Given the description of an element on the screen output the (x, y) to click on. 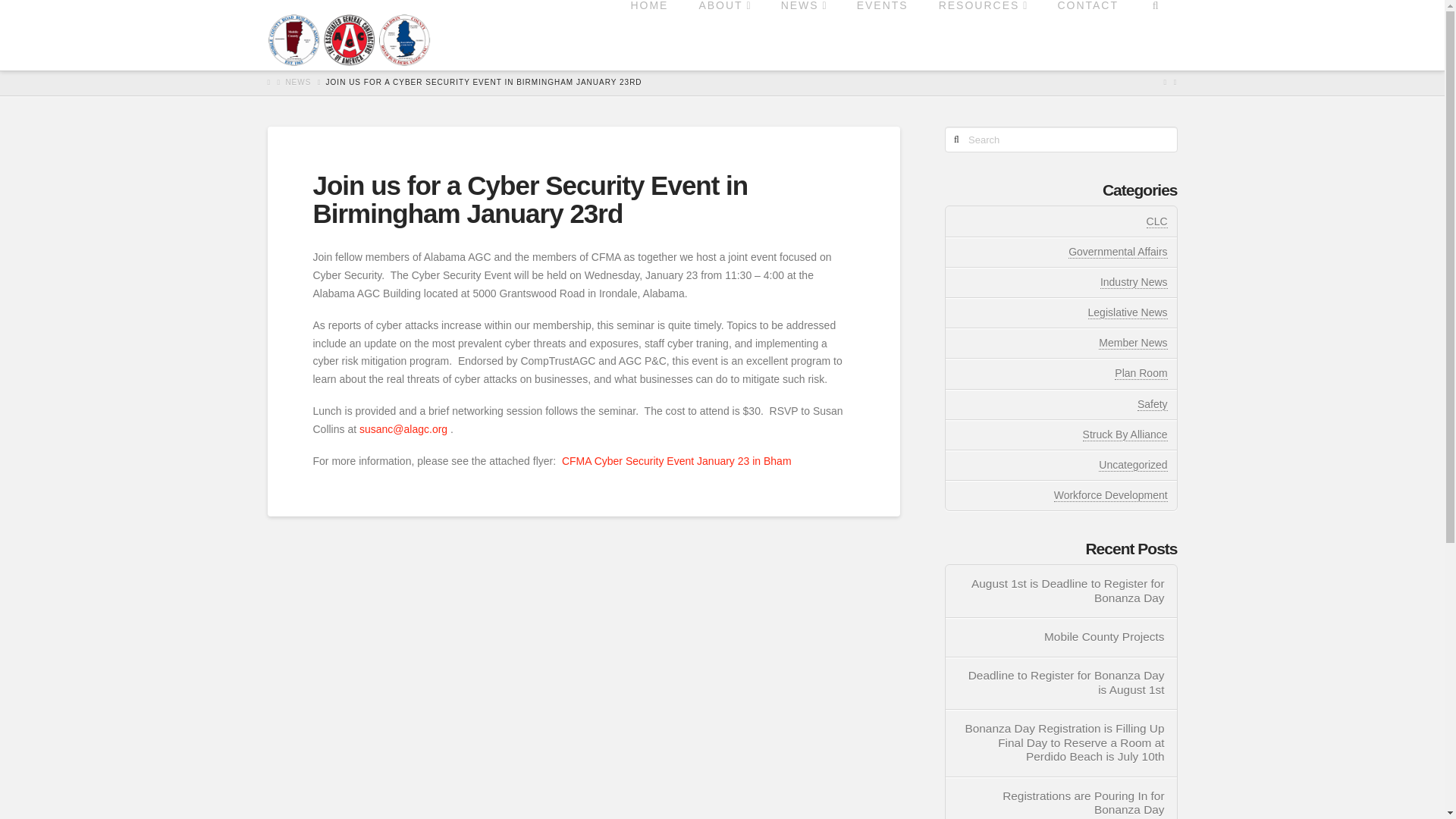
ABOUT (723, 33)
EVENTS (882, 33)
CONTACT (1088, 33)
NEWS (803, 33)
AGC Mobile Alabama (347, 39)
HOME (648, 33)
RESOURCES (982, 33)
